Given the description of an element on the screen output the (x, y) to click on. 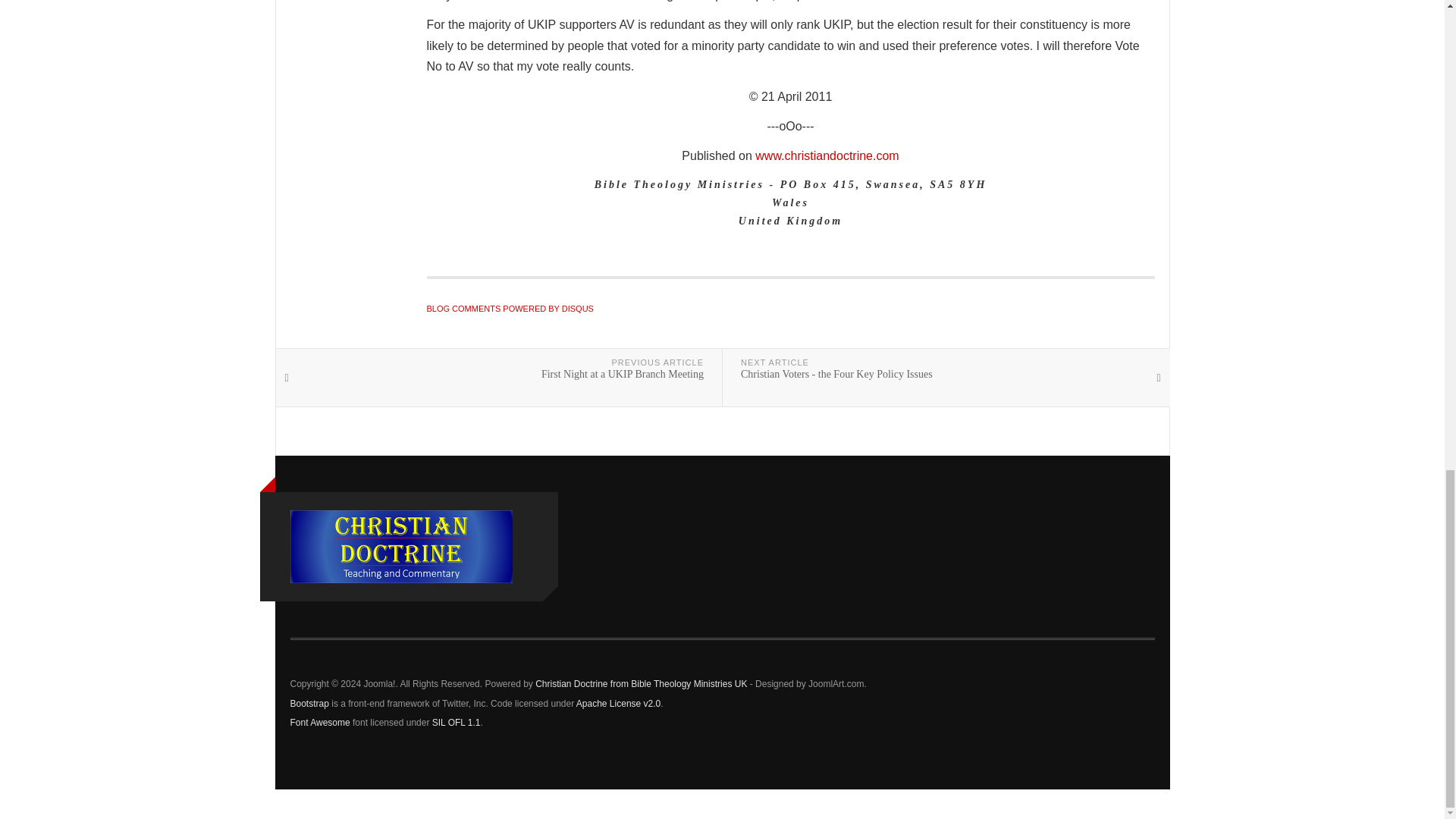
Christian Doctrine from Bible Theology Ministries UK (400, 546)
Christian Doctrine from Bible Theology Ministries UK (640, 683)
Christian Doctrine by Bible Theology Ministries (826, 155)
